Given the description of an element on the screen output the (x, y) to click on. 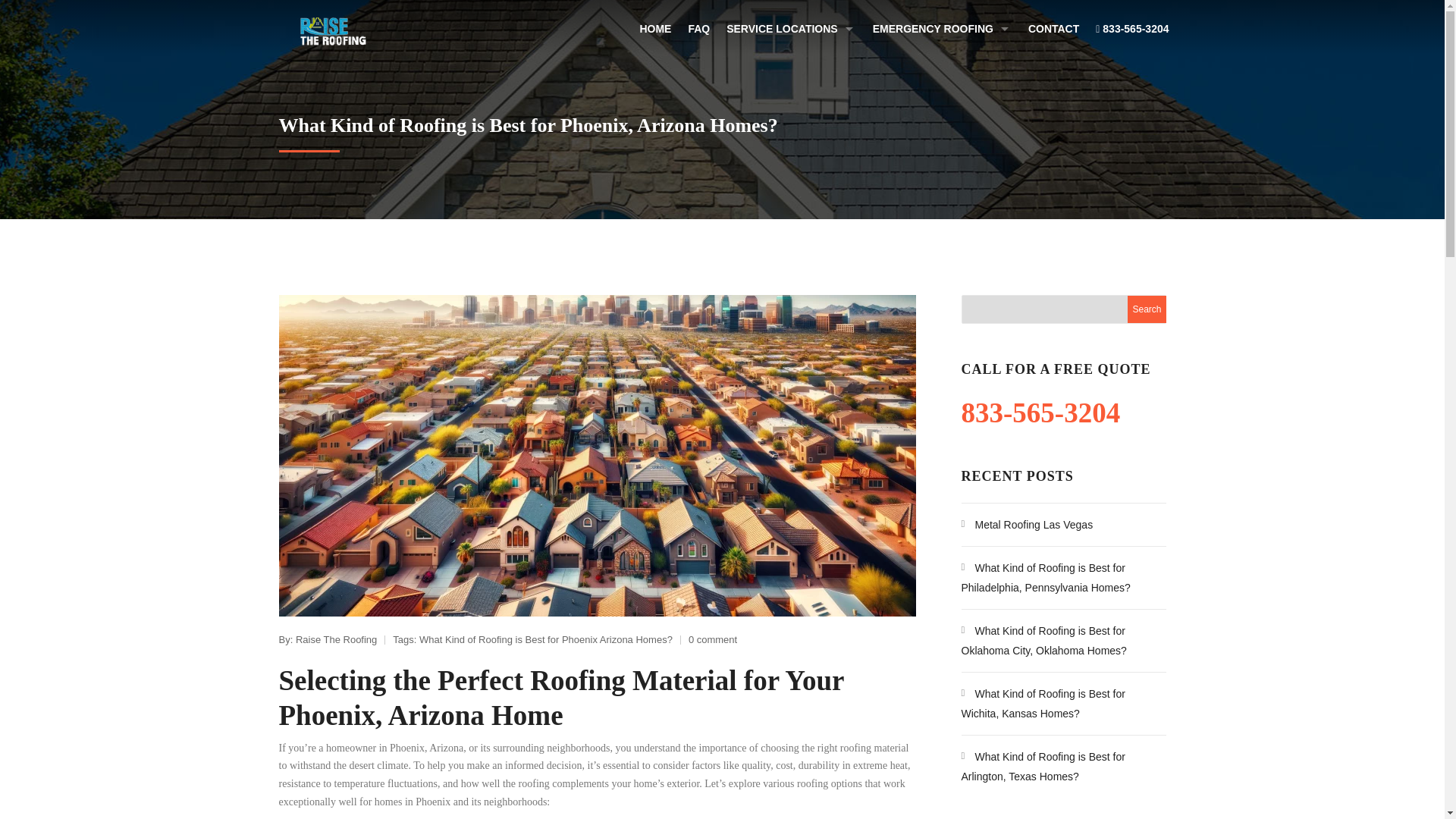
FAQ (698, 32)
833-565-3204  (1043, 412)
SERVICE LOCATIONS (790, 32)
Search (1146, 308)
HOME (654, 32)
CONTACT (1053, 32)
833-565-3204 (1131, 32)
Metal Roofing Las Vegas (1026, 524)
Search (1146, 308)
